Given the description of an element on the screen output the (x, y) to click on. 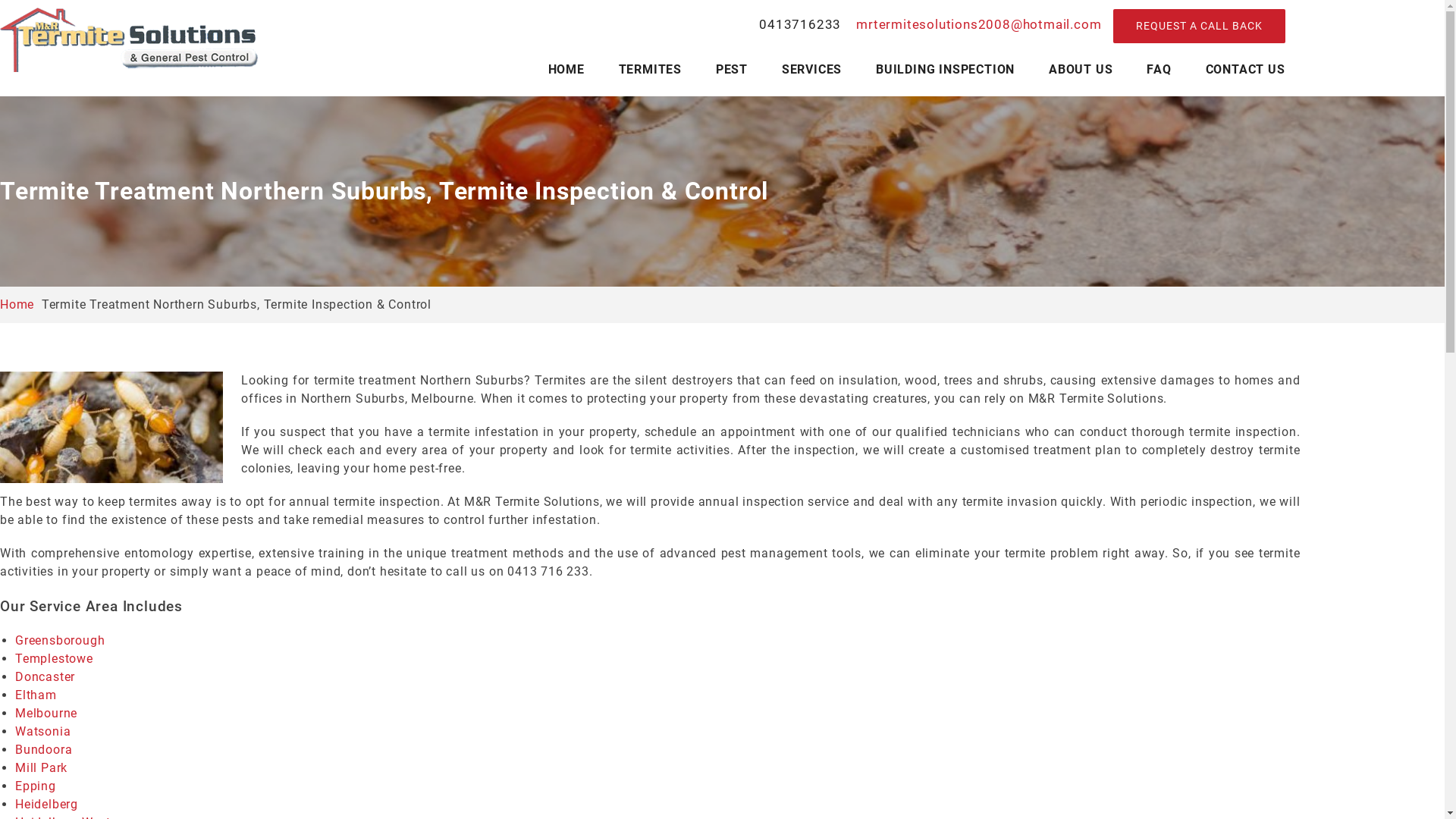
Bundoora Element type: text (43, 749)
FAQ Element type: text (1158, 69)
REQUEST A CALL BACK Element type: text (1199, 26)
Greensborough Element type: text (59, 640)
Heidelberg Element type: text (46, 804)
TERMITES Element type: text (649, 69)
Eltham Element type: text (35, 694)
HOME Element type: text (566, 69)
Mill Park Element type: text (41, 767)
Epping Element type: text (35, 785)
Melbourne Element type: text (46, 713)
Watsonia Element type: text (42, 731)
Home Element type: text (17, 304)
mrtermitesolutions2008@hotmail.com Element type: text (976, 23)
PEST Element type: text (731, 69)
CONTACT US Element type: text (1245, 69)
SERVICES Element type: text (811, 69)
Templestowe Element type: text (54, 658)
0413716233 Element type: text (799, 24)
ABOUT US Element type: text (1080, 69)
BUILDING INSPECTION Element type: text (944, 69)
Doncaster Element type: text (45, 676)
